Given the description of an element on the screen output the (x, y) to click on. 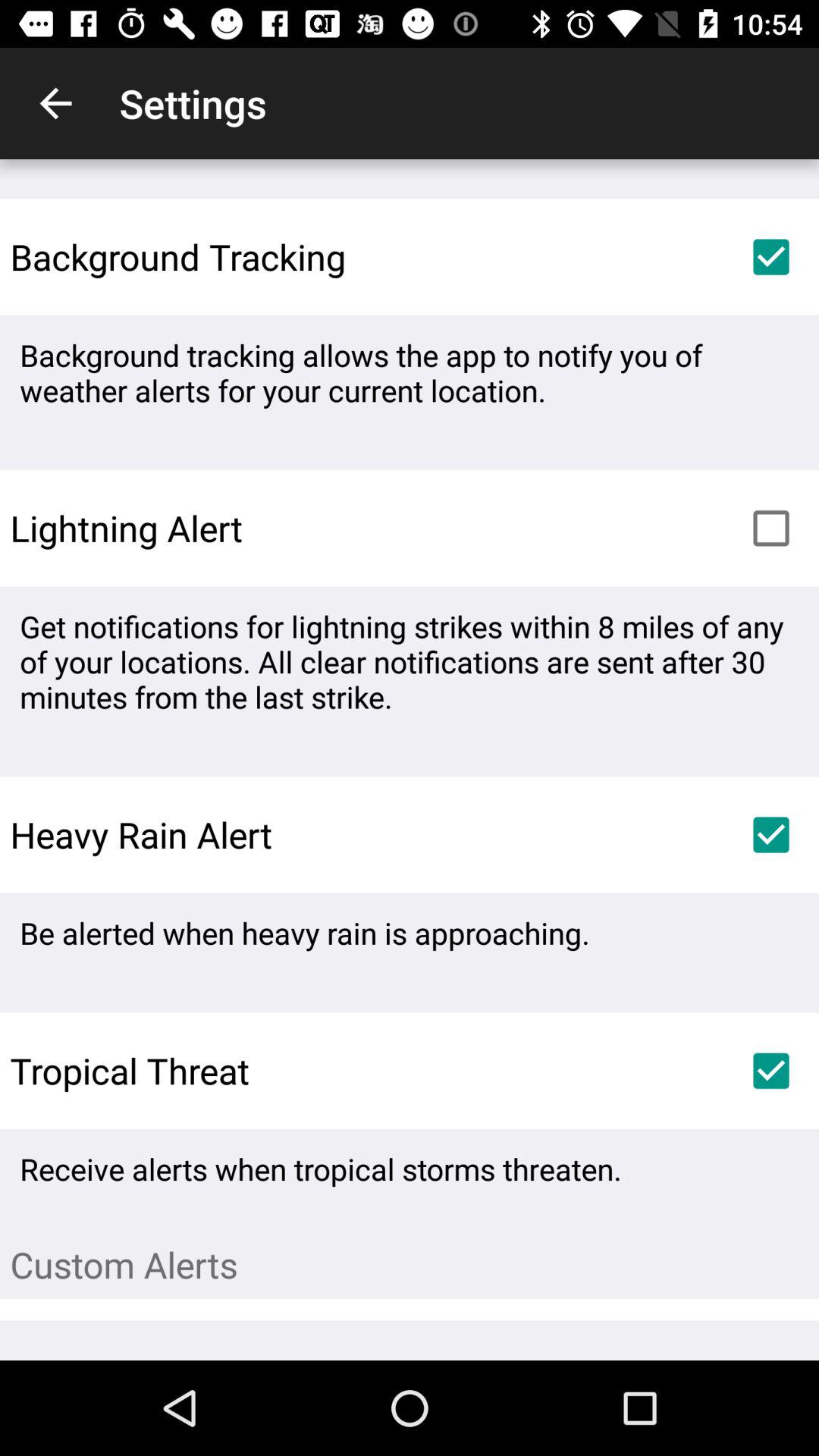
open tropical threat icon (124, 1070)
